Given the description of an element on the screen output the (x, y) to click on. 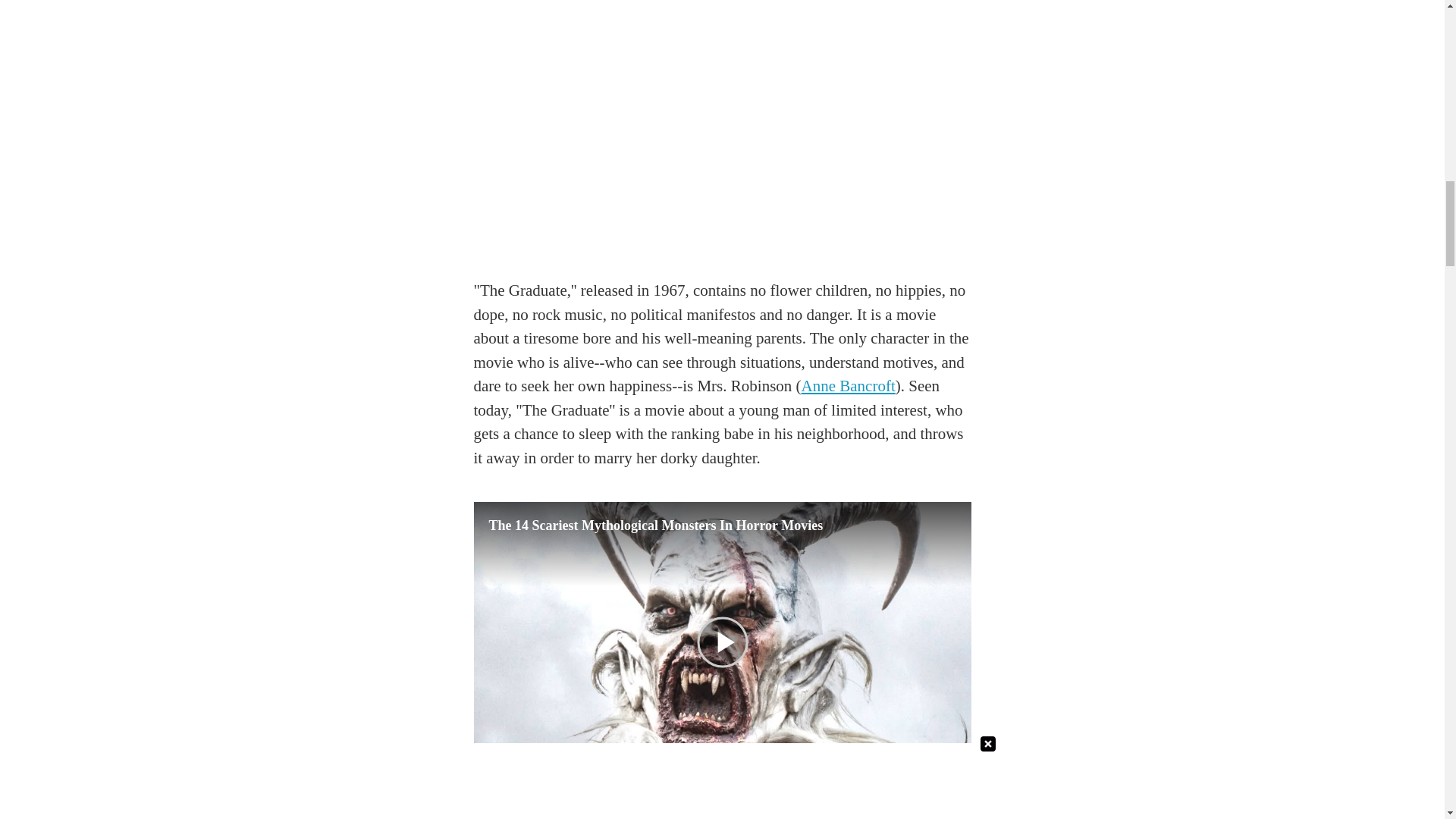
Anne Bancroft (848, 385)
